Given the description of an element on the screen output the (x, y) to click on. 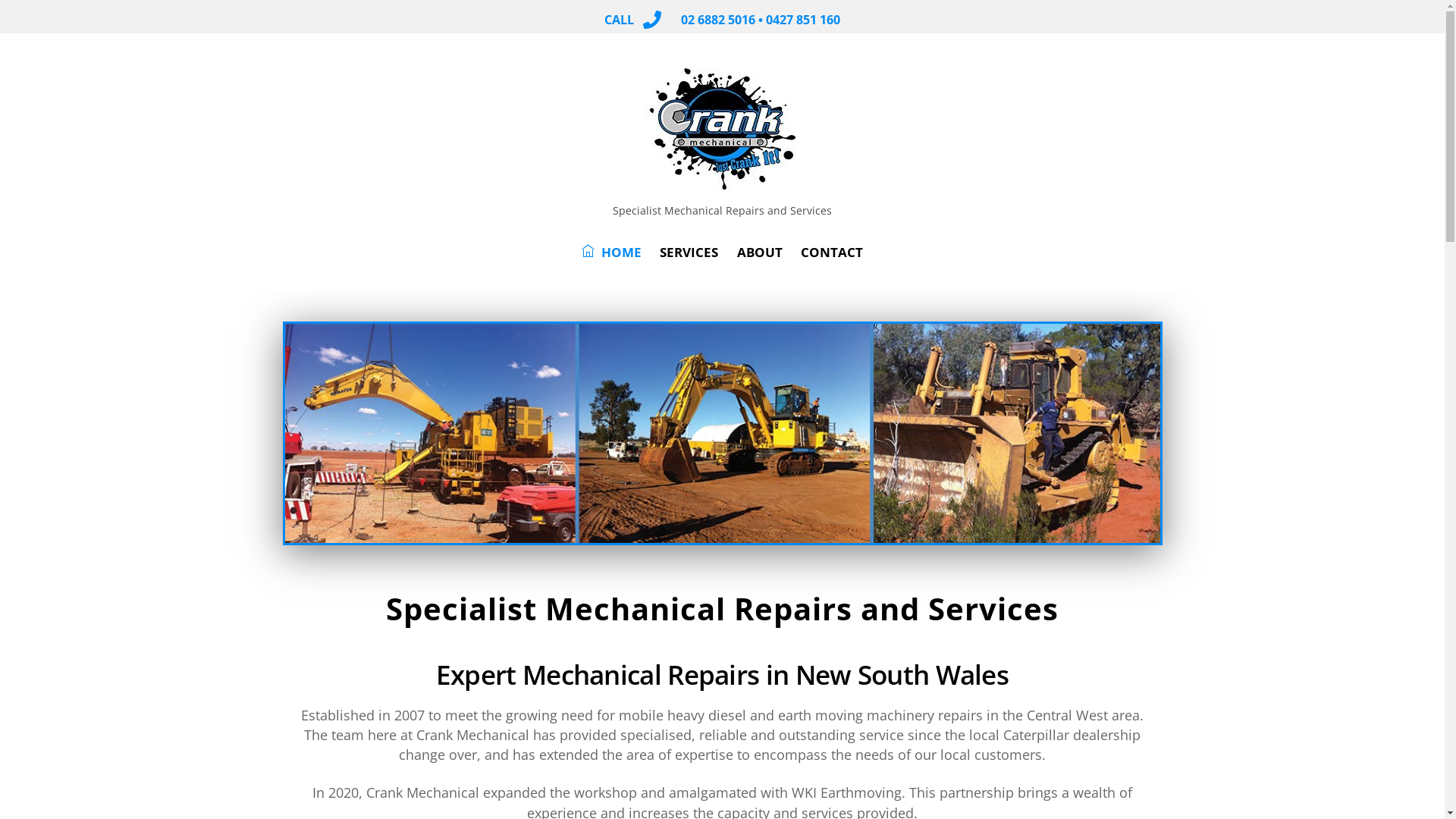
0427 851 160 Element type: text (802, 19)
Crank Mechanical, Website Logo Element type: hover (722, 128)
SERVICES Element type: text (688, 252)
ABOUT Element type: text (759, 252)
02 6882 5016 Element type: text (717, 19)
CONTACT Element type: text (831, 252)
HOME Element type: text (611, 251)
Crank Mechanical Element type: hover (722, 181)
